Given the description of an element on the screen output the (x, y) to click on. 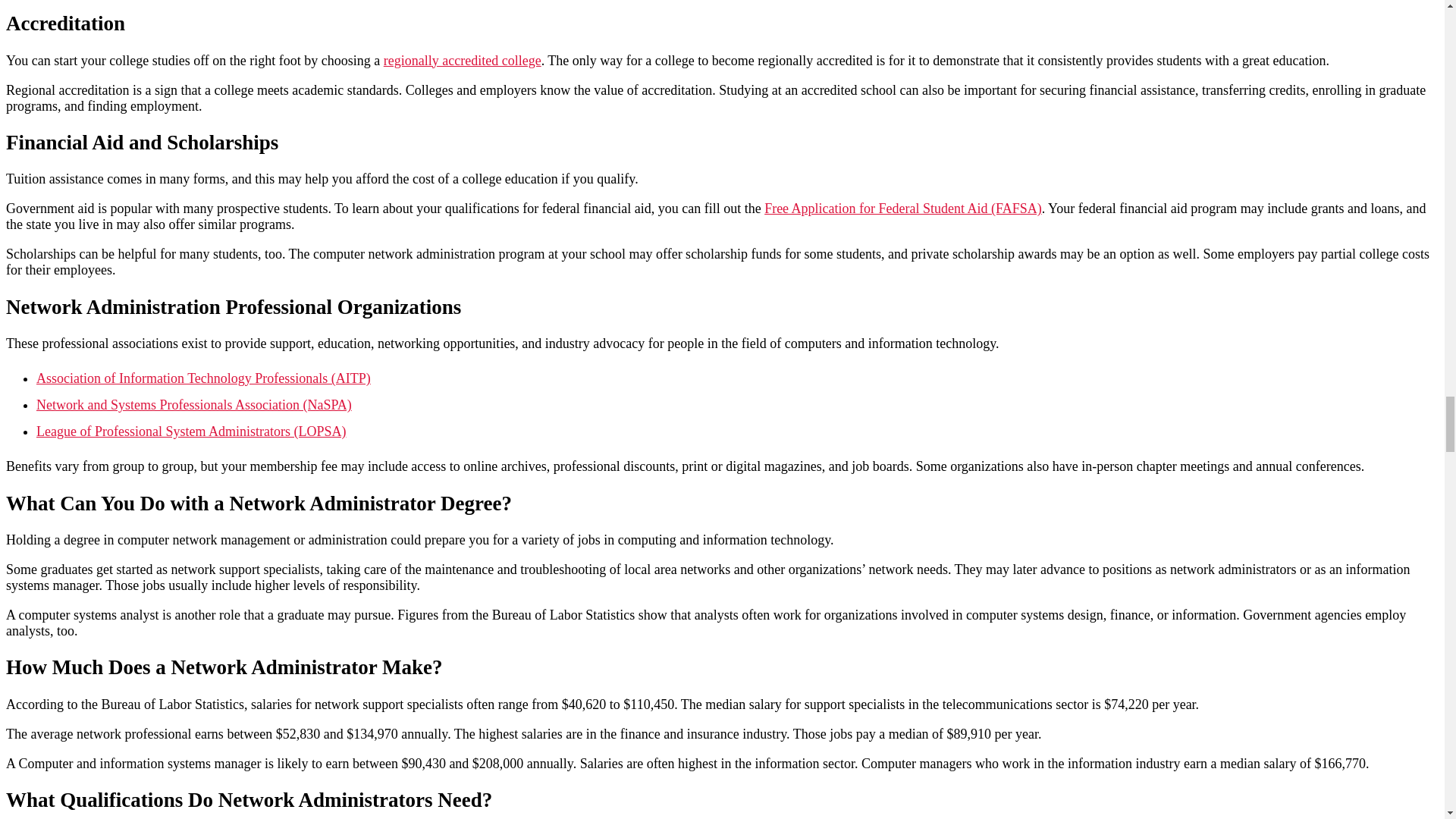
regionally accredited college (462, 60)
